Given the description of an element on the screen output the (x, y) to click on. 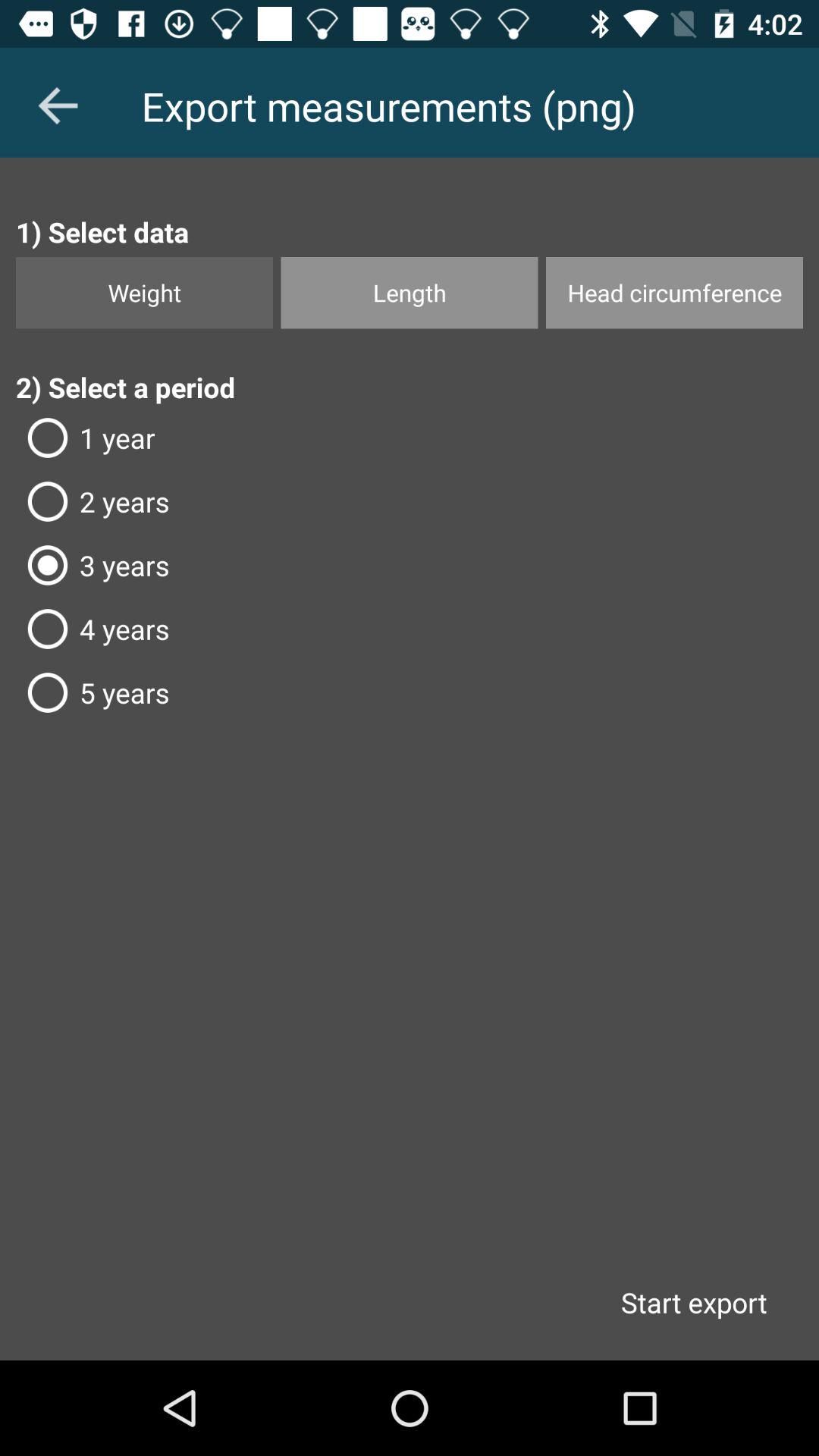
press the item next to the length icon (674, 292)
